Given the description of an element on the screen output the (x, y) to click on. 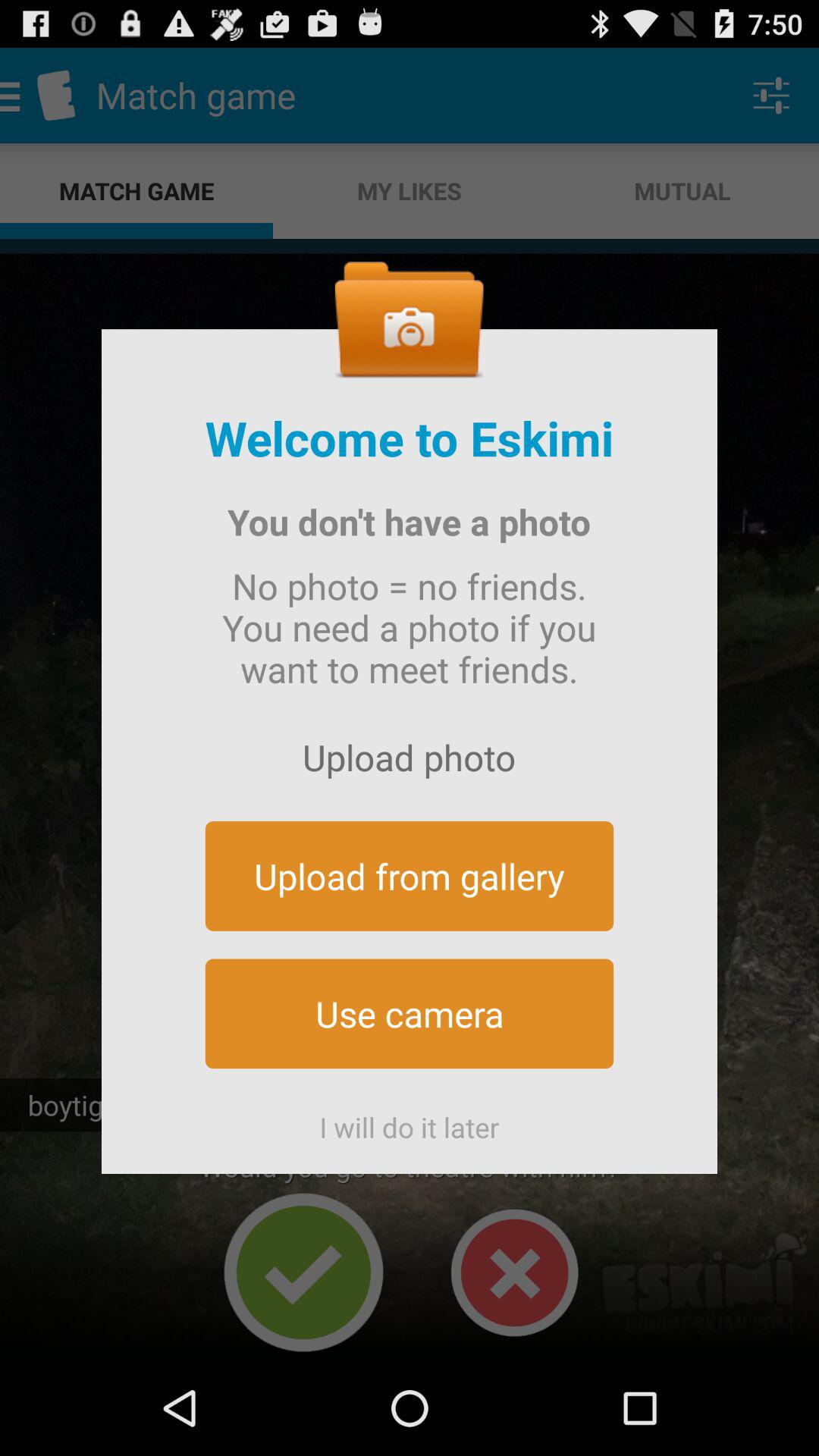
press the i will do (409, 1120)
